Given the description of an element on the screen output the (x, y) to click on. 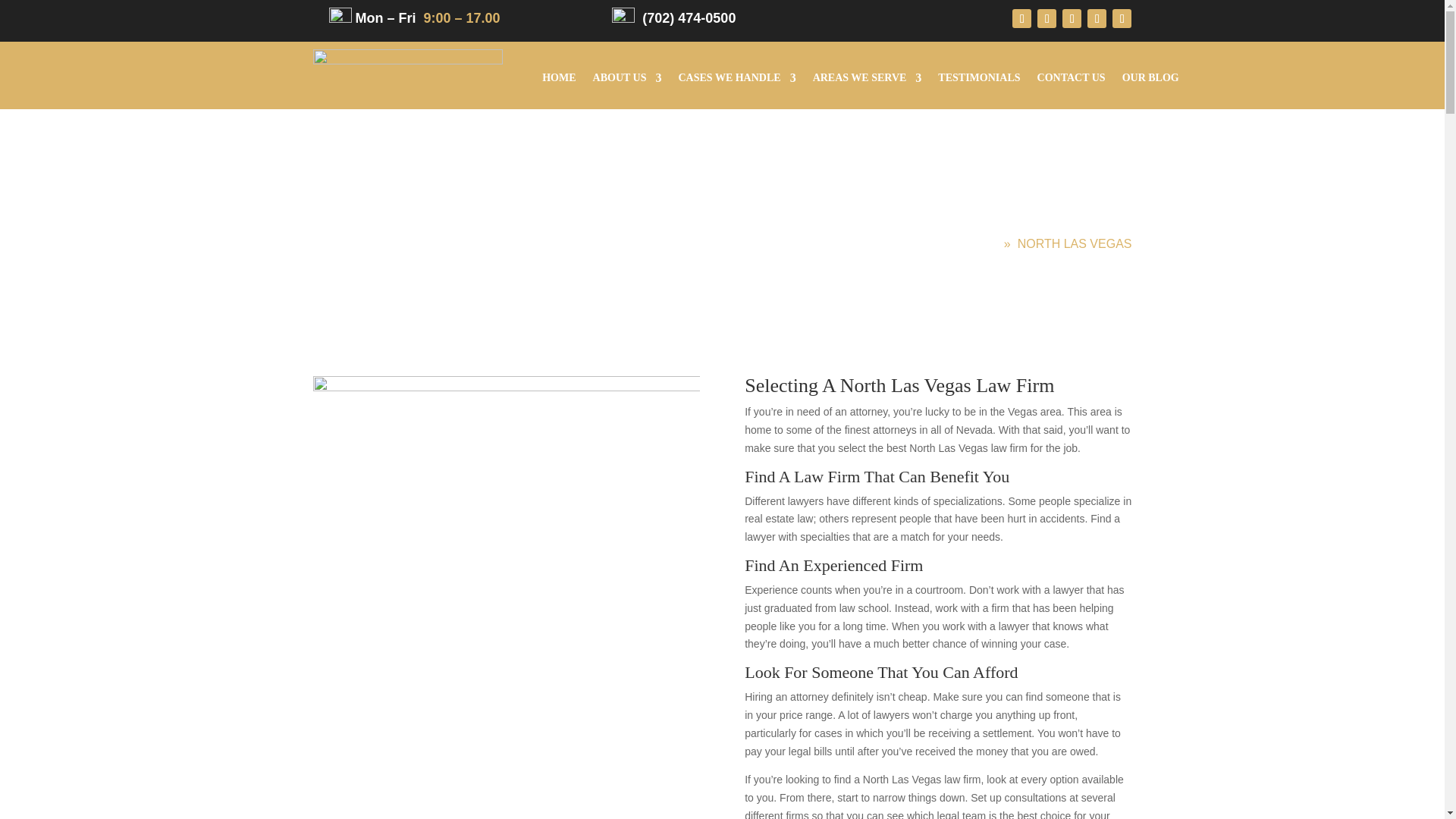
ABOUT US (627, 80)
Follow on LinkedIn (1071, 18)
Follow (1020, 18)
Follow on Facebook (1020, 18)
Follow (1096, 18)
Follow (1046, 18)
Follow on X (1046, 18)
CASES WE HANDLE (736, 80)
HOME (558, 80)
